Given the description of an element on the screen output the (x, y) to click on. 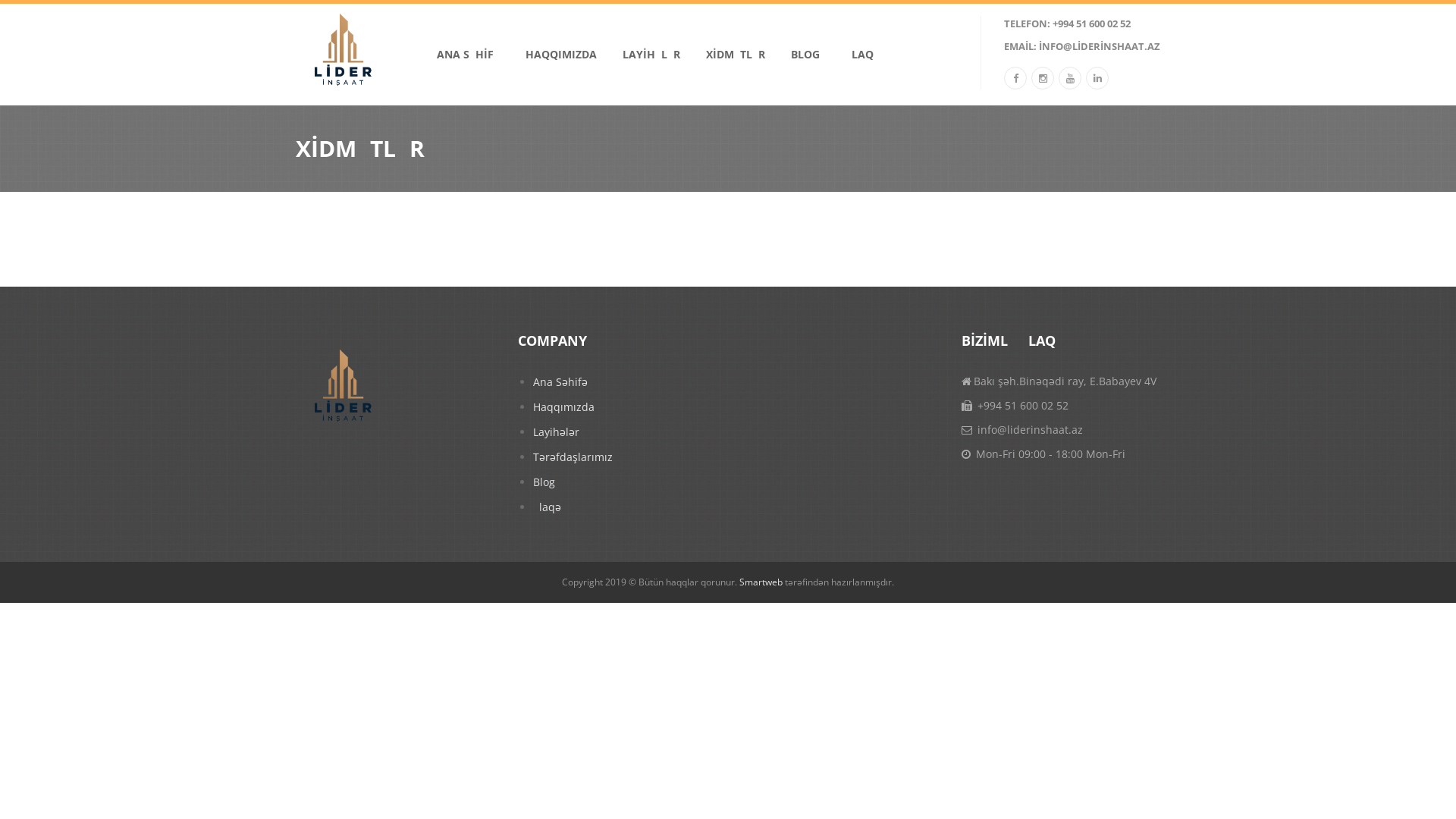
INFO@LIDERINSHAAT.AZ Element type: text (1099, 46)
Smartweb Element type: text (760, 581)
Blog Element type: text (624, 481)
HAQQIMIZDA Element type: text (560, 54)
BLOG Element type: text (804, 54)
